Given the description of an element on the screen output the (x, y) to click on. 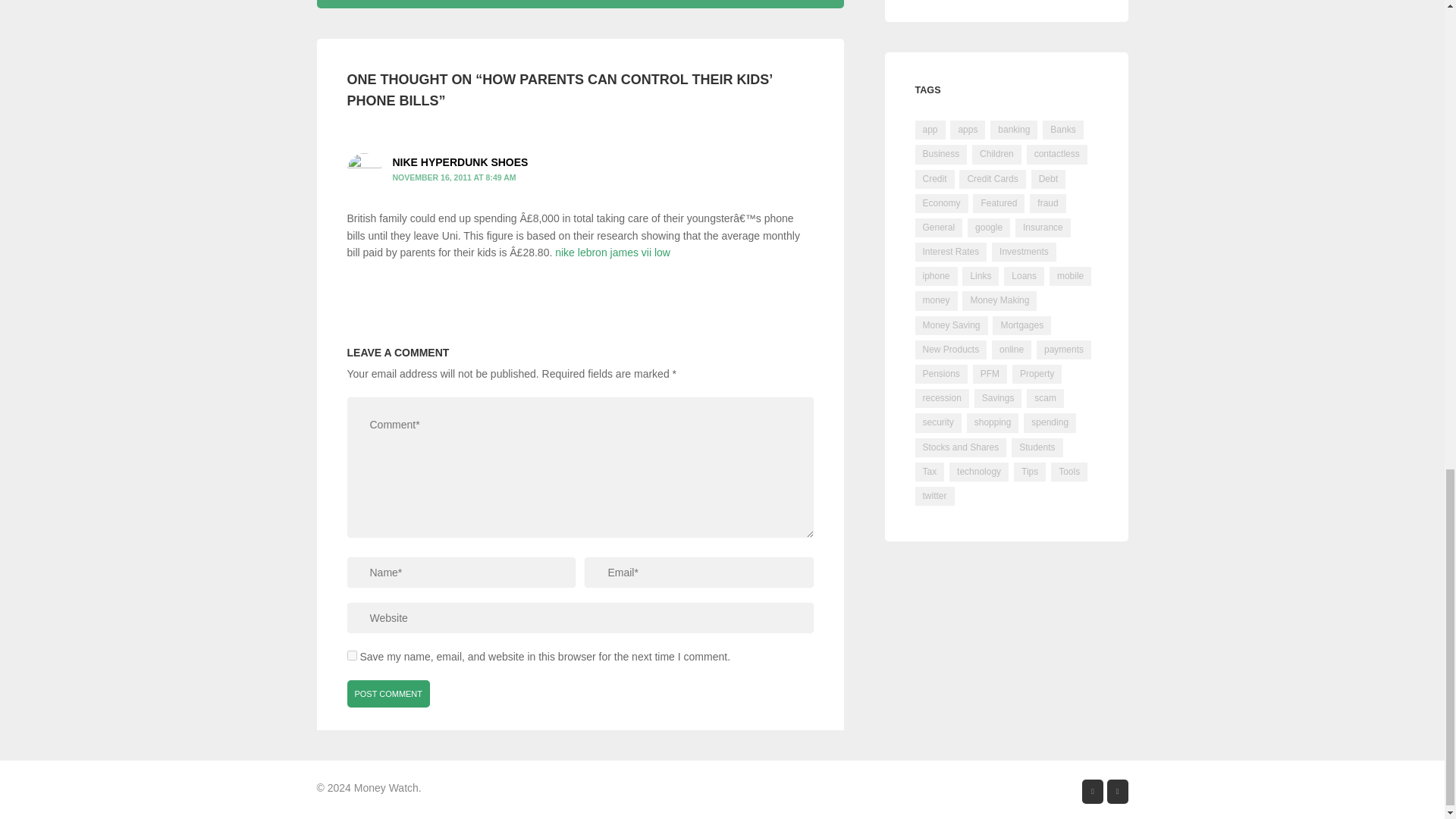
NOVEMBER 16, 2011 AT 8:49 AM (454, 176)
yes (351, 655)
NIKE HYPERDUNK SHOES (460, 162)
nike lebron james vii low (611, 252)
Post Comment (388, 693)
Post Comment (388, 693)
